Given the description of an element on the screen output the (x, y) to click on. 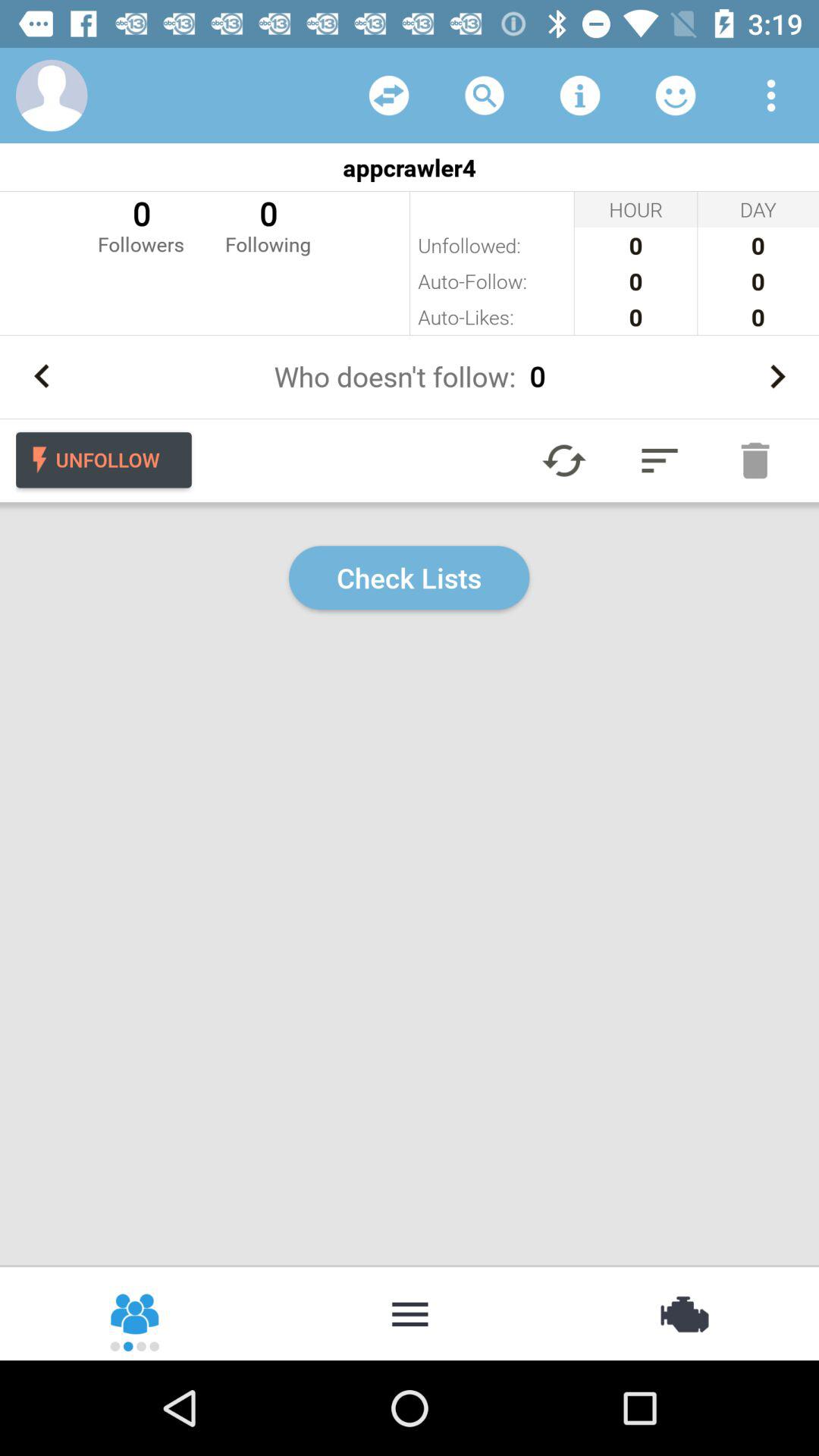
select the icon above appcrawler4 icon (675, 95)
